Given the description of an element on the screen output the (x, y) to click on. 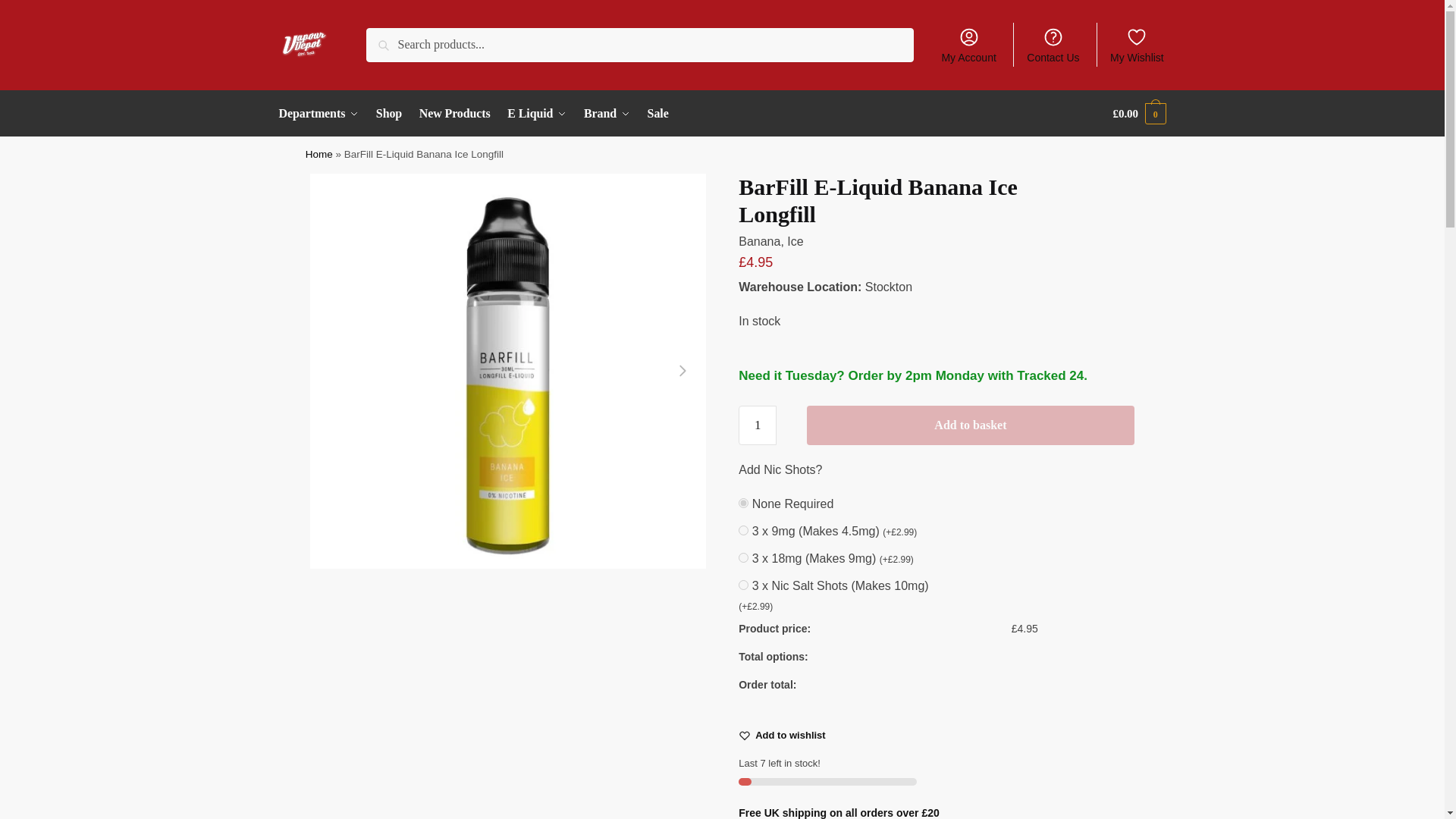
2 (743, 557)
1 (743, 530)
My Wishlist (1136, 44)
Wishlist (790, 735)
View your shopping cart (1139, 113)
1 (757, 425)
My Account (968, 44)
Departments (322, 113)
3 (743, 584)
